Given the description of an element on the screen output the (x, y) to click on. 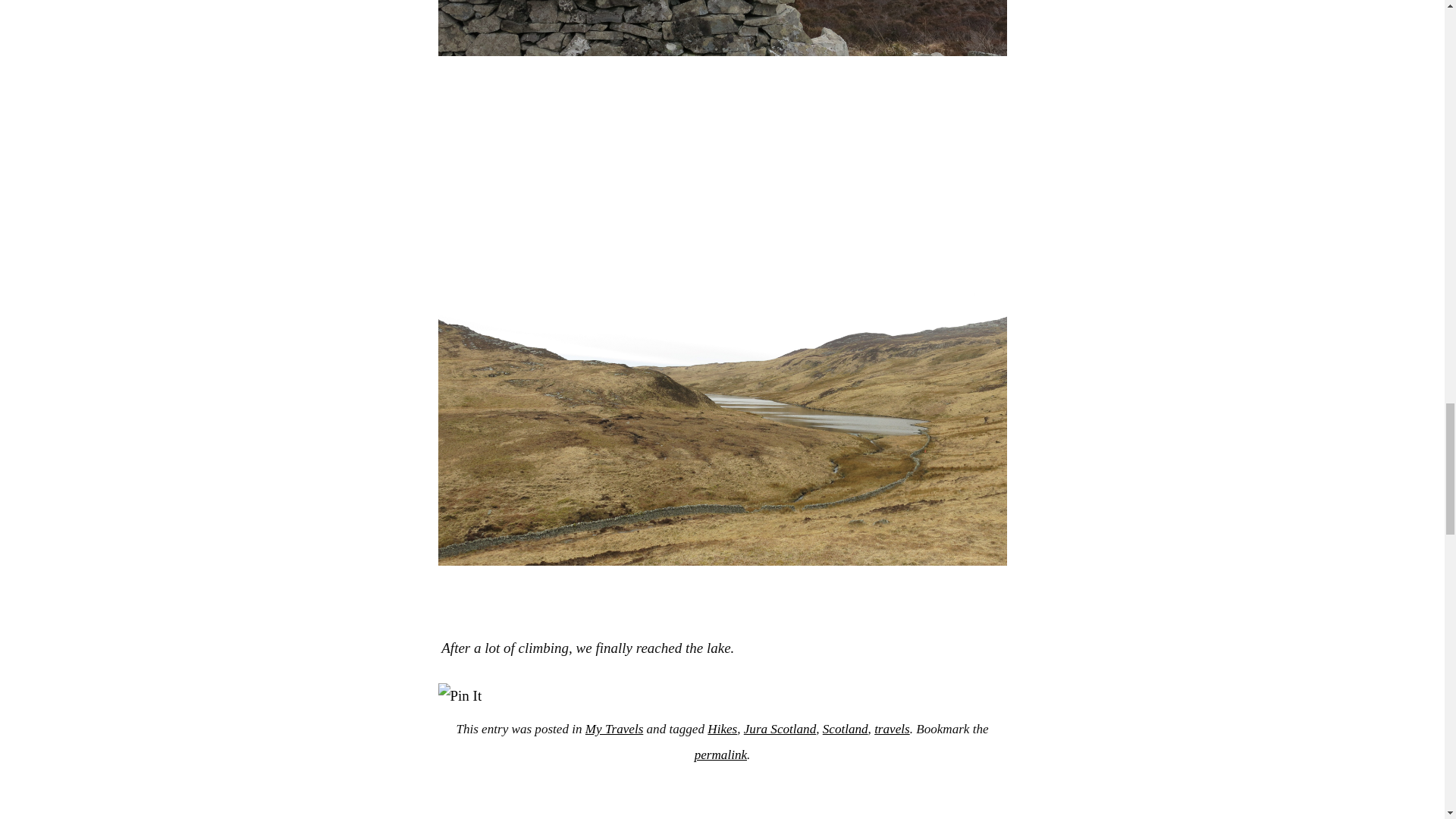
My Travels (614, 728)
Pin It (459, 696)
Hikes (721, 728)
Jura Scotland (779, 728)
Scotland (844, 728)
permalink (720, 754)
travels (892, 728)
